Given the description of an element on the screen output the (x, y) to click on. 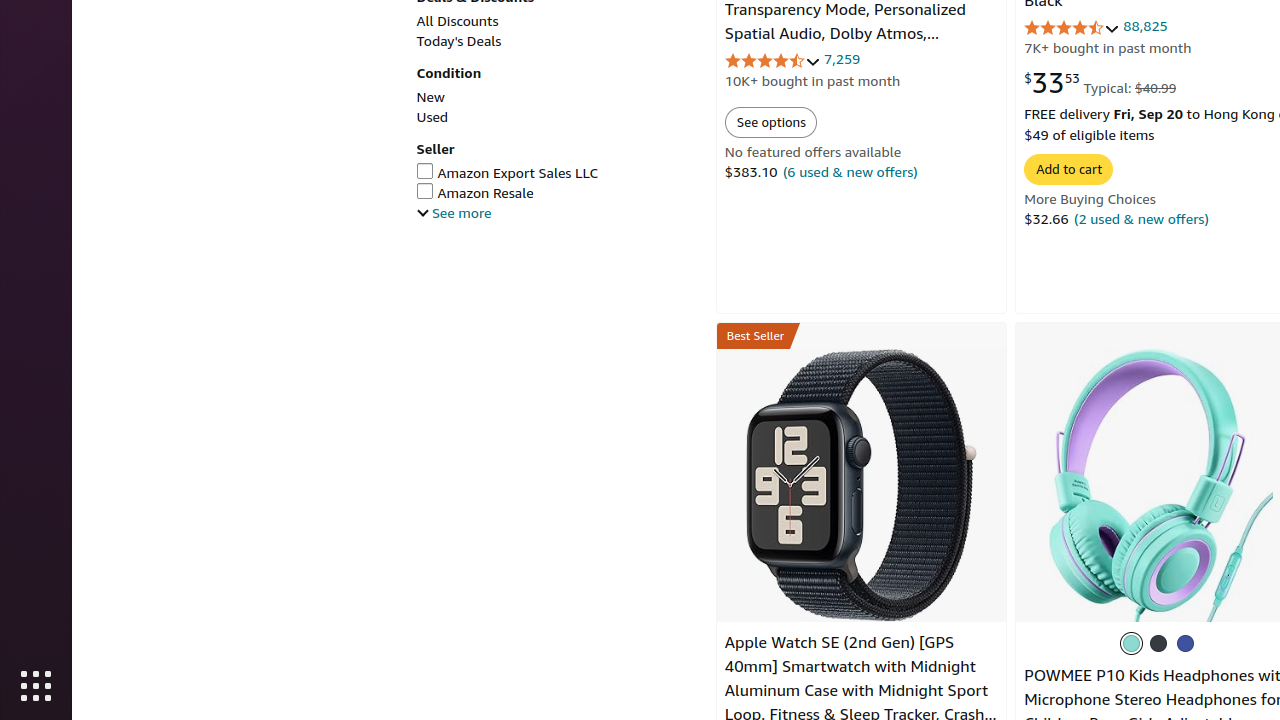
(2 used & new offers) Element type: link (1141, 218)
Amazon Resale Element type: list-item (556, 193)
New Element type: link (430, 97)
All Discounts Element type: link (457, 21)
Show Applications Element type: toggle-button (36, 686)
